Given the description of an element on the screen output the (x, y) to click on. 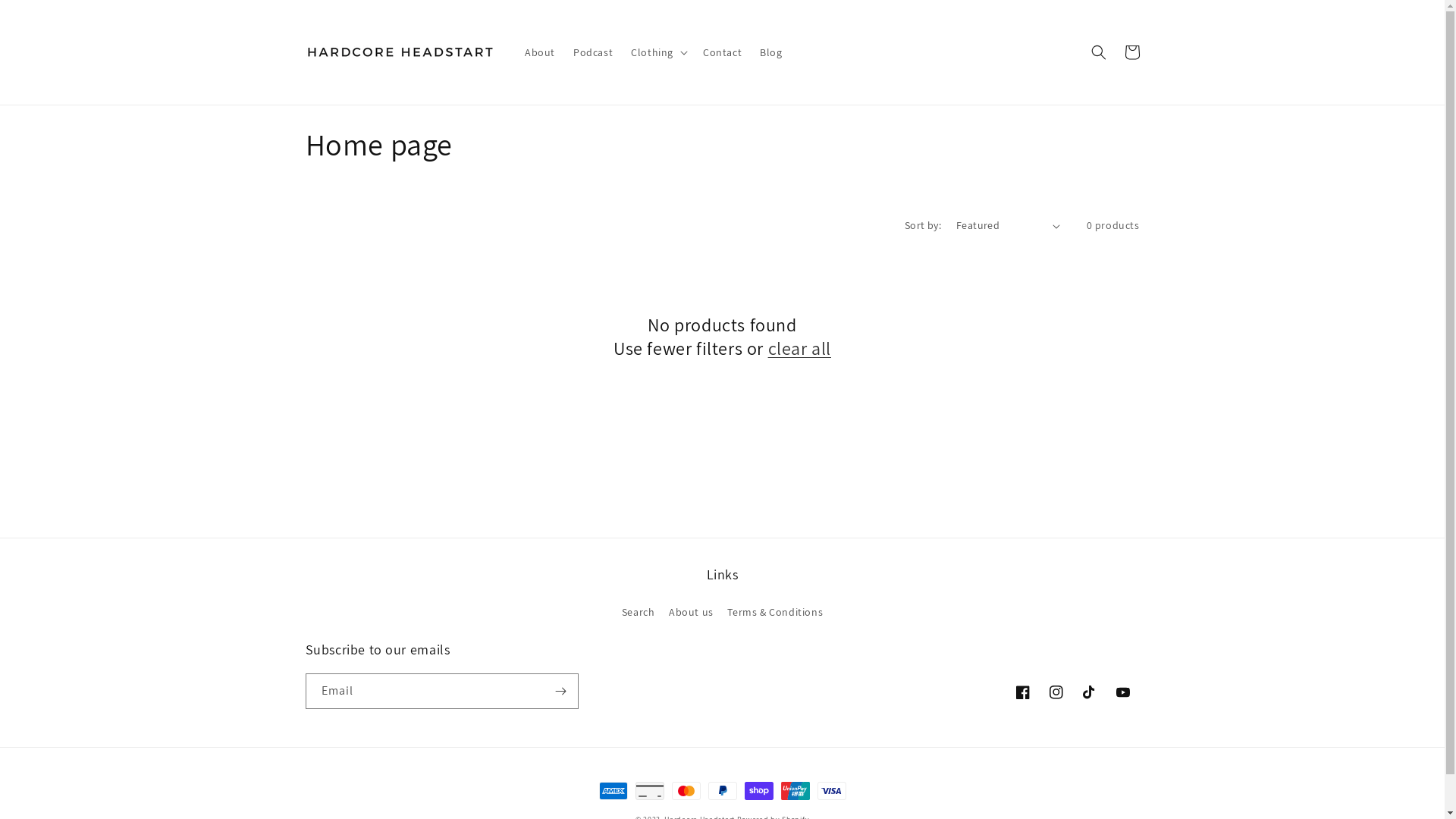
Facebook Element type: text (1021, 692)
Podcast Element type: text (592, 52)
YouTube Element type: text (1122, 692)
clear all Element type: text (799, 348)
Search Element type: text (638, 613)
Terms & Conditions Element type: text (774, 612)
Blog Element type: text (770, 52)
Instagram Element type: text (1055, 692)
TikTok Element type: text (1088, 692)
Cart Element type: text (1131, 52)
About us Element type: text (690, 612)
Contact Element type: text (721, 52)
About Element type: text (539, 52)
